Given the description of an element on the screen output the (x, y) to click on. 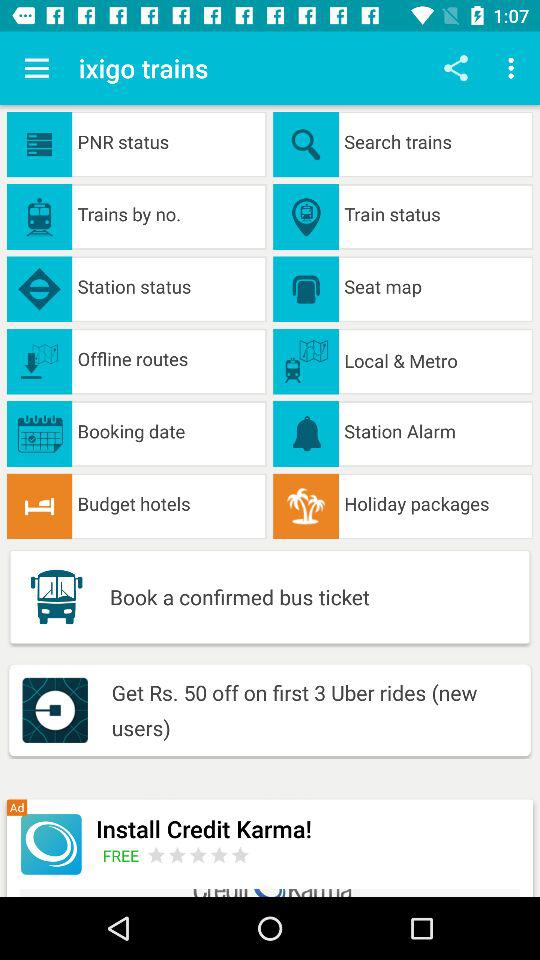
install credit karma (50, 844)
